Given the description of an element on the screen output the (x, y) to click on. 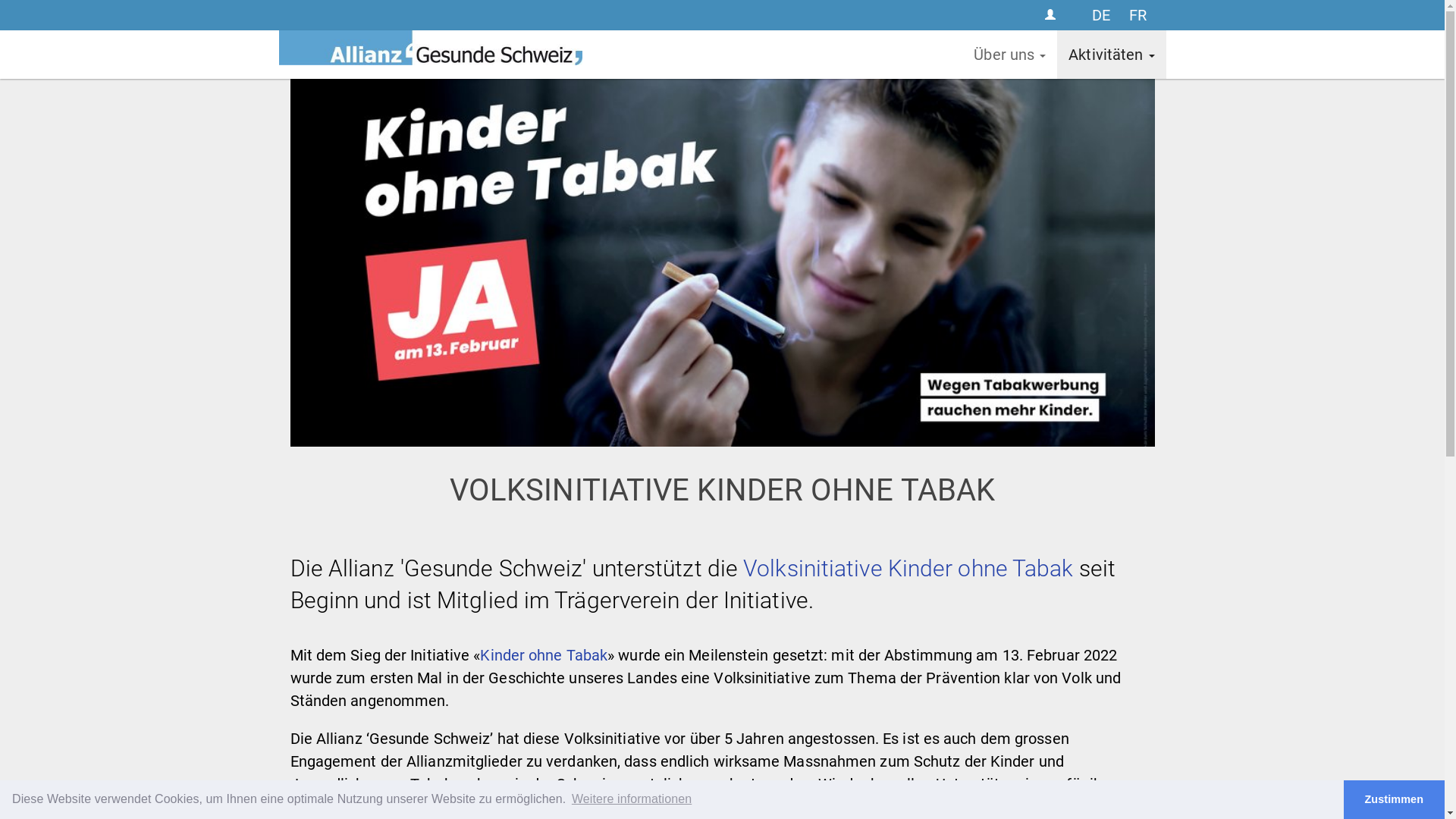
Kinder ohne Tabak Element type: text (543, 655)
Weitere informationen Element type: text (631, 798)
CONTACT Element type: text (1051, 14)
ALLIANZ GESUNDE SCHWEIZ Element type: text (430, 54)
Volksinitiative Kinder ohne Tabak Element type: text (905, 568)
